Given the description of an element on the screen output the (x, y) to click on. 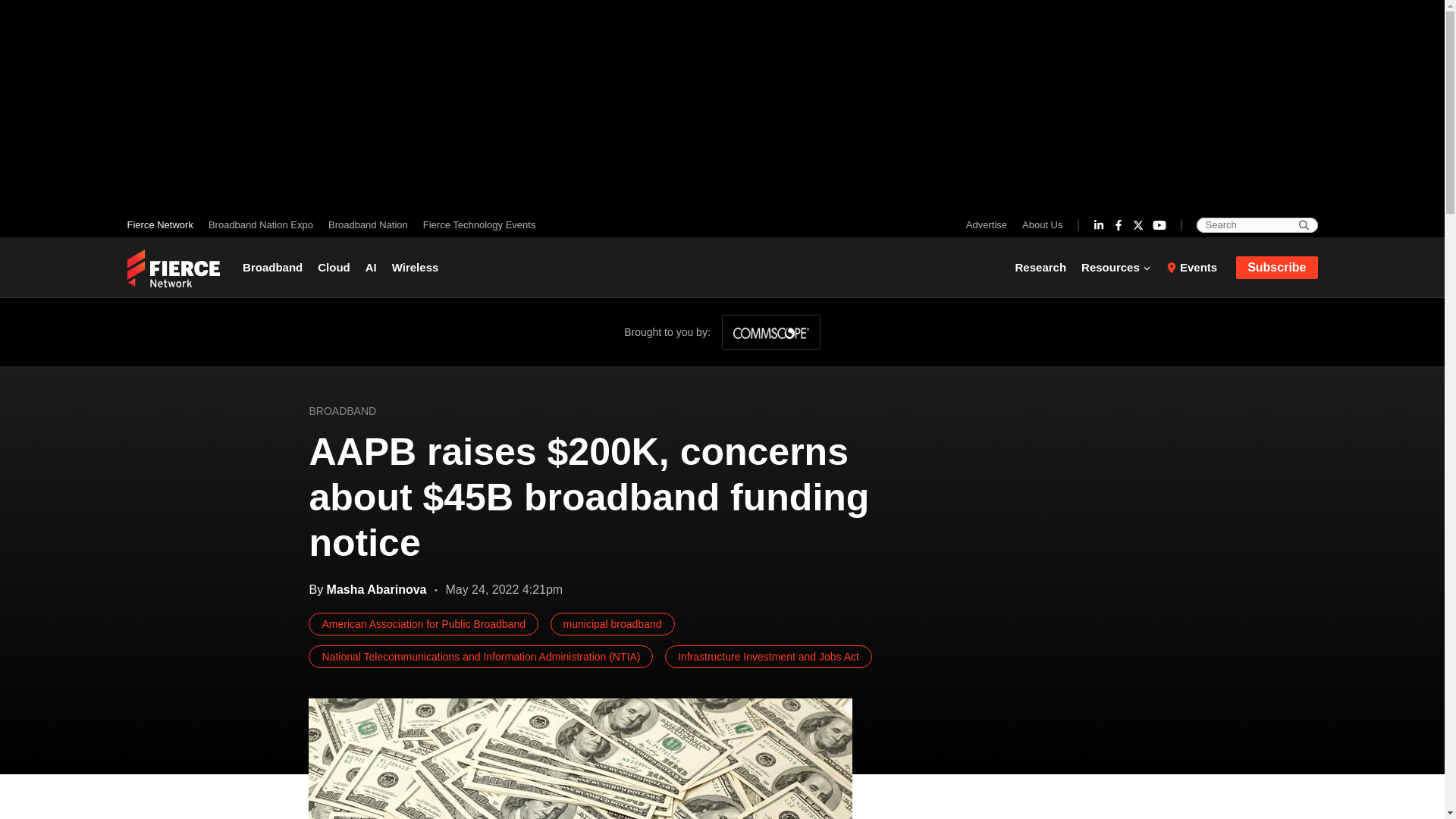
Broadband (276, 266)
Cloud (334, 266)
Advertise (990, 225)
Subscribe (1276, 267)
Research (1044, 266)
About Us (1038, 225)
Fierce Technology Events (474, 225)
Broadband Nation (367, 225)
AI (371, 266)
Wireless (415, 266)
